Given the description of an element on the screen output the (x, y) to click on. 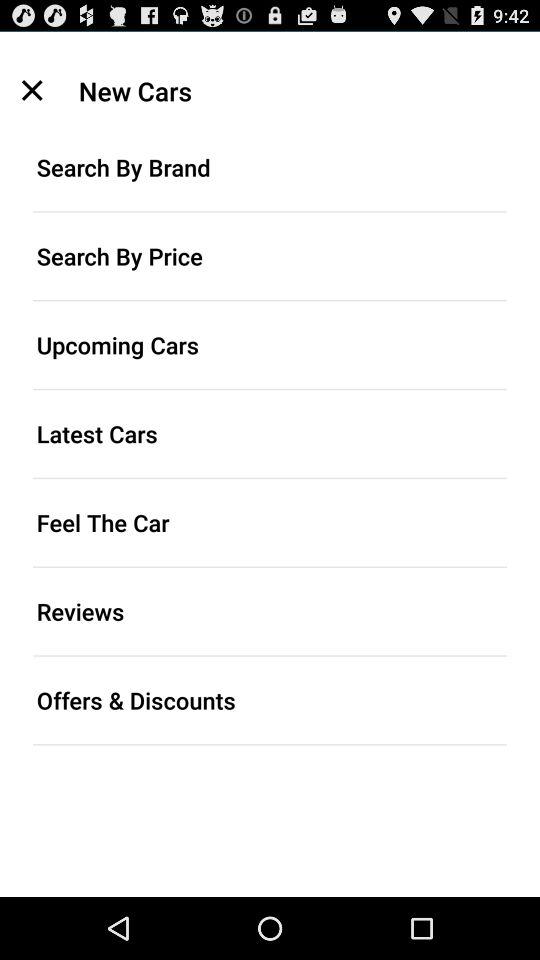
press the upcoming cars icon (270, 344)
